Given the description of an element on the screen output the (x, y) to click on. 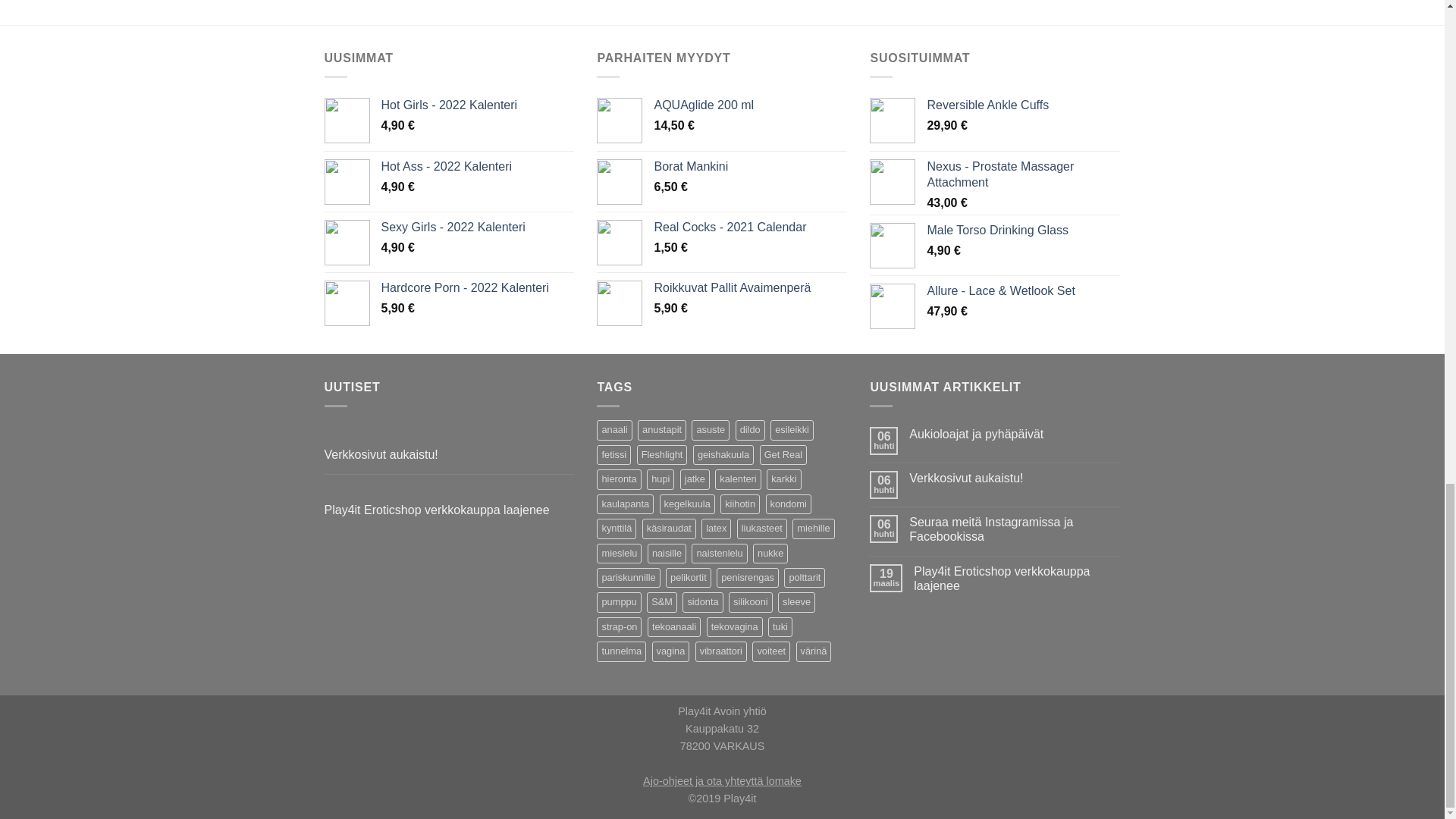
Verkkosivut aukaistu! (1013, 477)
Play4it Eroticshop verkkokauppa laajenee (1016, 578)
